Given the description of an element on the screen output the (x, y) to click on. 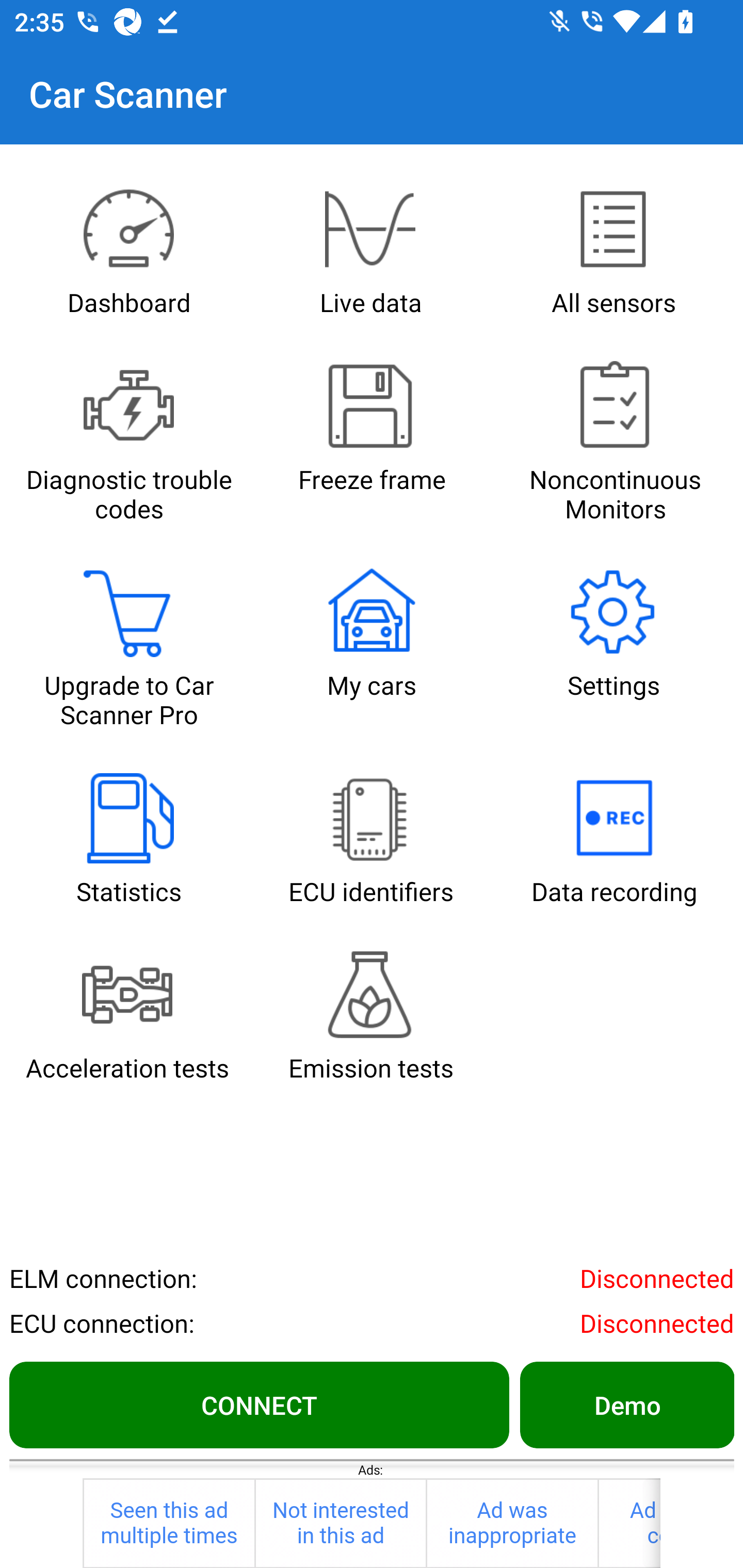
CONNECT (258, 1404)
Demo (627, 1404)
